Given the description of an element on the screen output the (x, y) to click on. 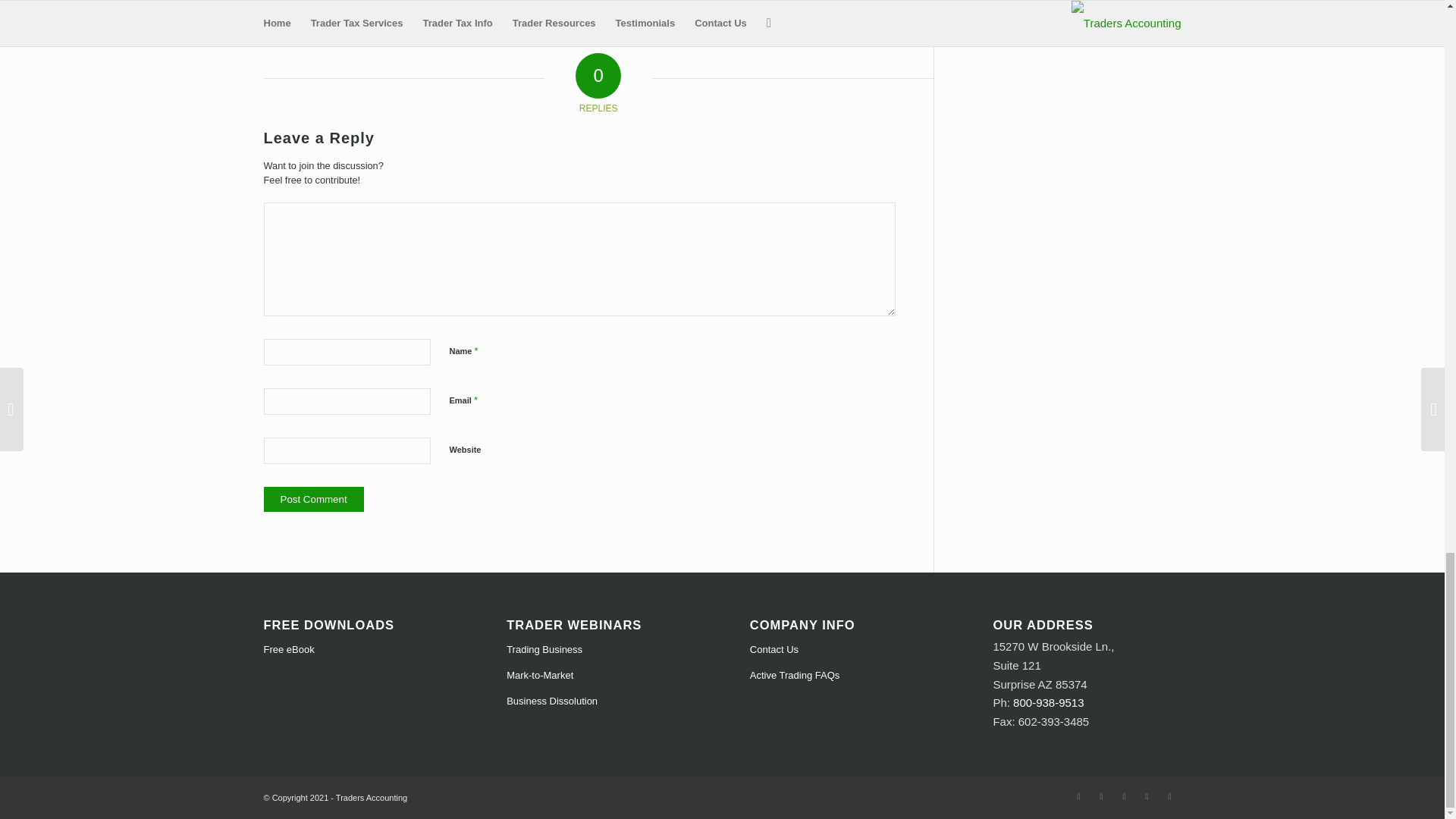
When does the IRS Consider You a Trader? (380, 2)
Post Comment (313, 498)
Why Do Day Traders Need an Accountant? (301, 2)
